Given the description of an element on the screen output the (x, y) to click on. 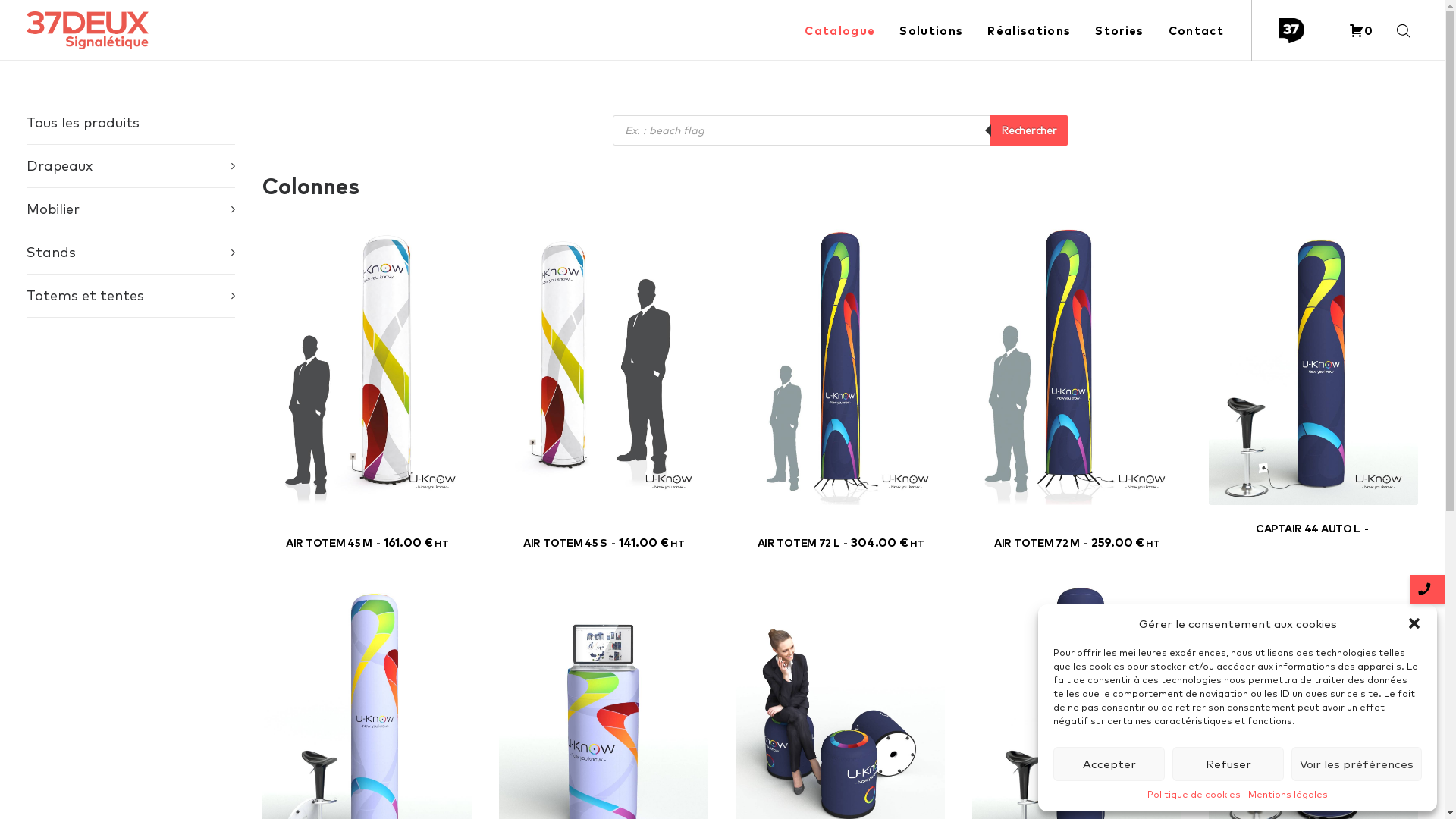
Catalogue Element type: text (839, 30)
Une solution 37DEUX Element type: hover (1294, 30)
Politique de cookies Element type: text (1193, 794)
Tous les produits Element type: text (81, 122)
Drapeaux Element type: text (130, 165)
Refuser Element type: text (1227, 763)
Contact Element type: text (1190, 30)
Totems et tentes Element type: text (130, 295)
CAPTAIR 44 AUTO L Element type: text (1313, 528)
Accepter Element type: text (1108, 763)
Mobilier Element type: text (130, 209)
Rechercher Element type: text (1028, 130)
Stands Element type: text (130, 252)
0 Element type: text (1360, 29)
Stories Element type: text (1119, 30)
Solutions Element type: text (930, 30)
